Given the description of an element on the screen output the (x, y) to click on. 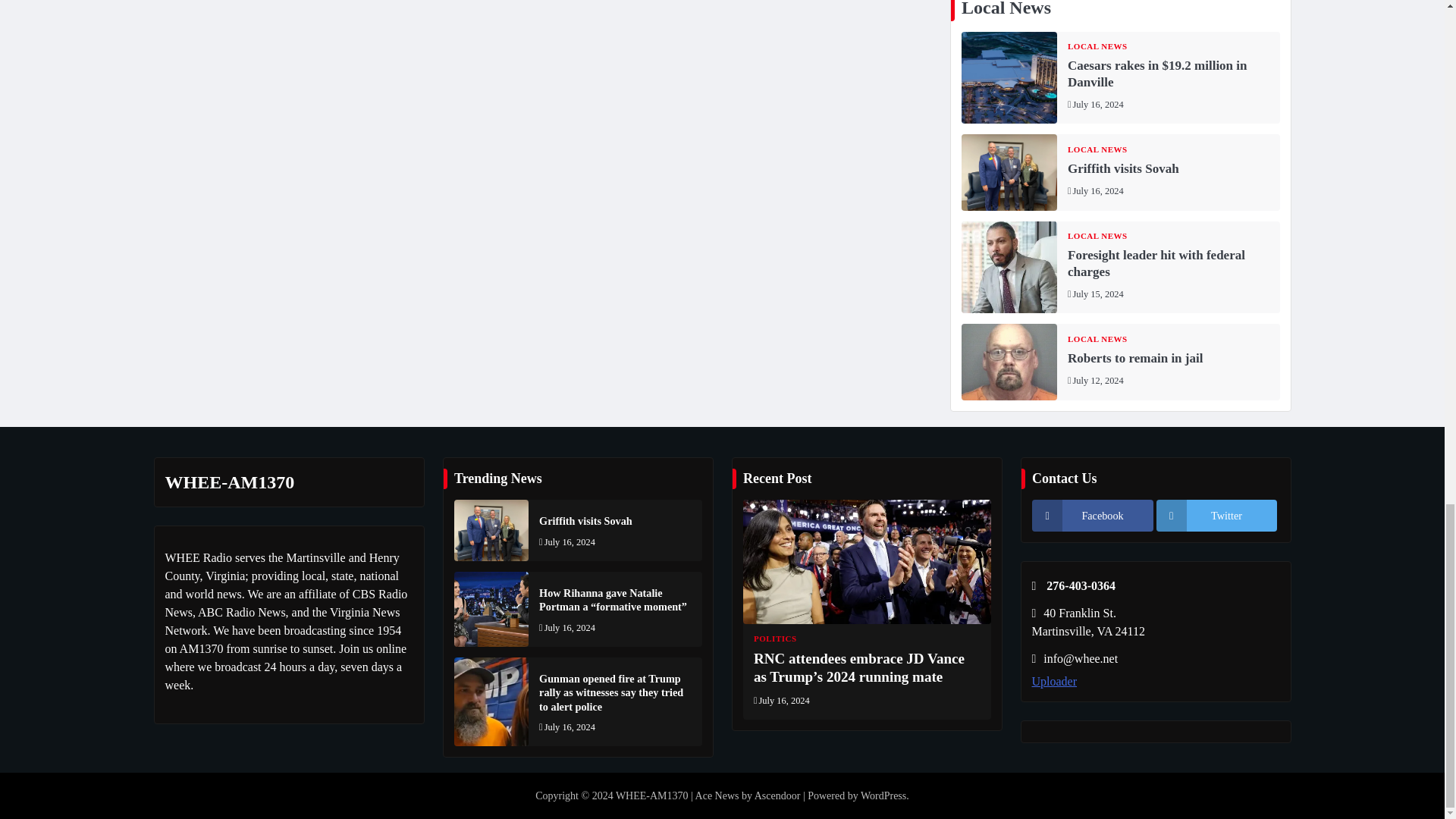
Caesars rakes in .2 million in Danville (1008, 77)
Griffith visits Sovah (1008, 172)
Griffith visits Sovah (489, 530)
Roberts to remain in jail (1008, 361)
Foresight leader hit with federal charges (1008, 266)
